Given the description of an element on the screen output the (x, y) to click on. 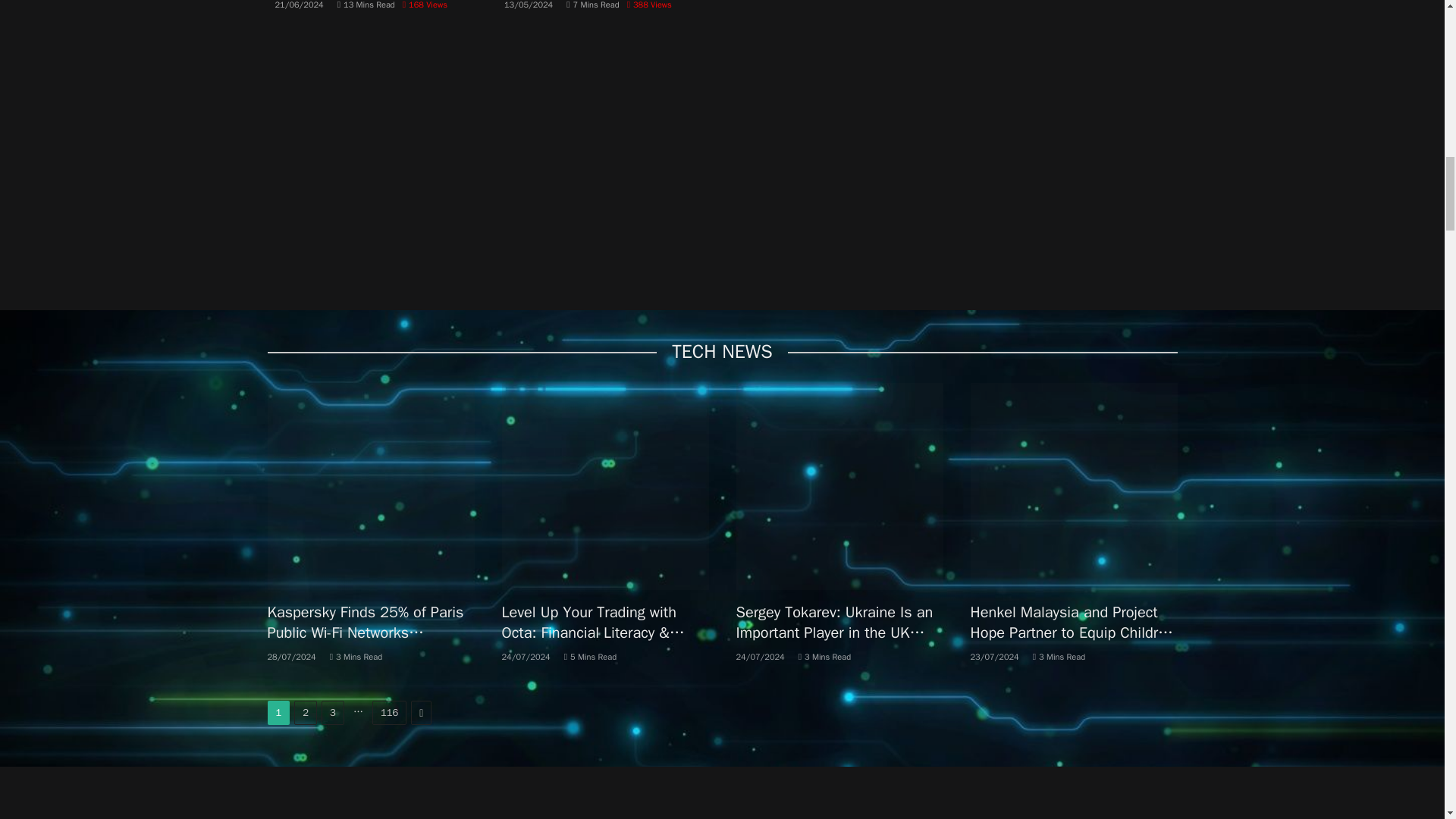
388 Article Views (649, 4)
168 Article Views (424, 4)
